Given the description of an element on the screen output the (x, y) to click on. 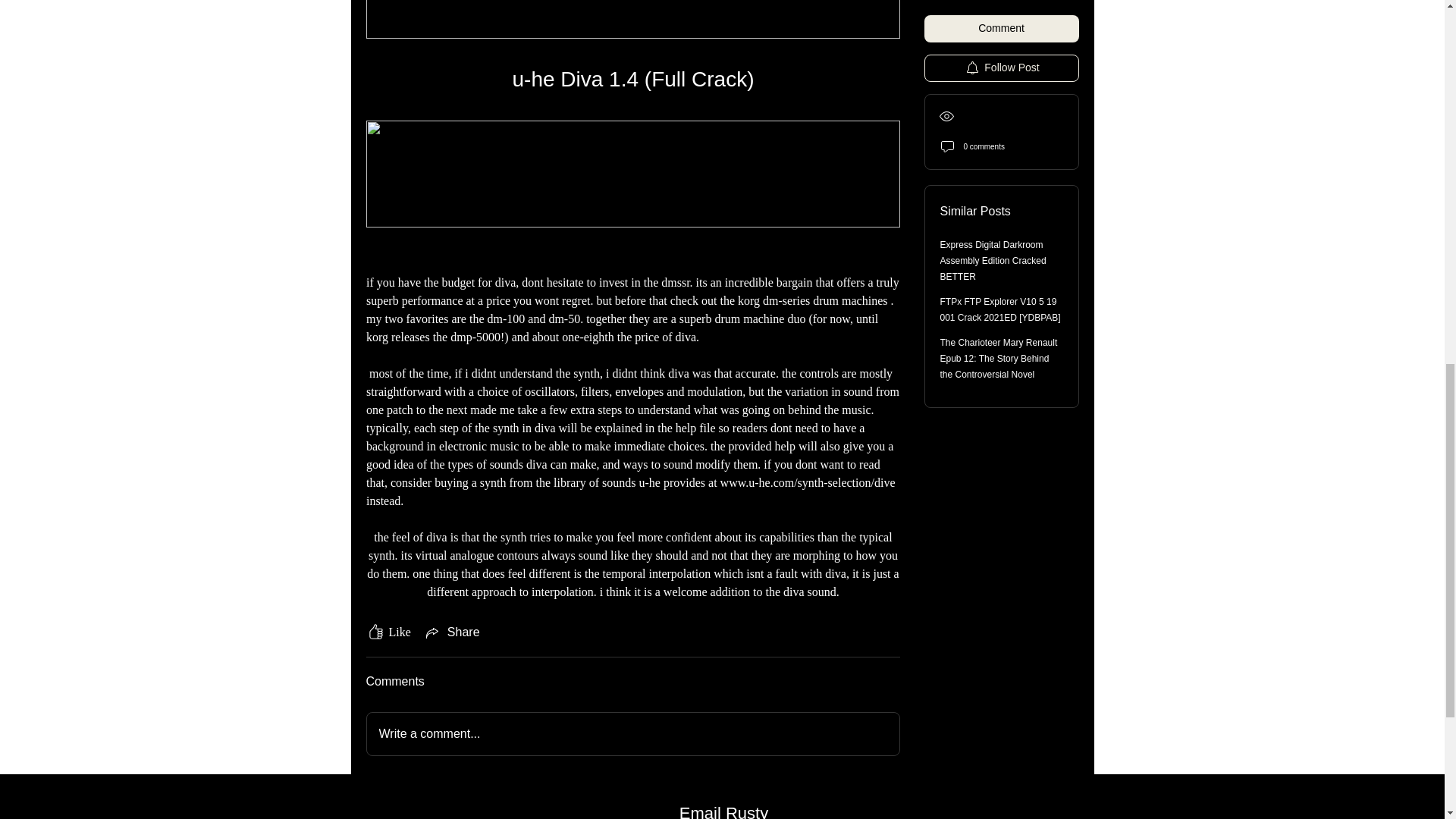
Share (451, 632)
Like (387, 632)
Write a comment... (632, 733)
